Given the description of an element on the screen output the (x, y) to click on. 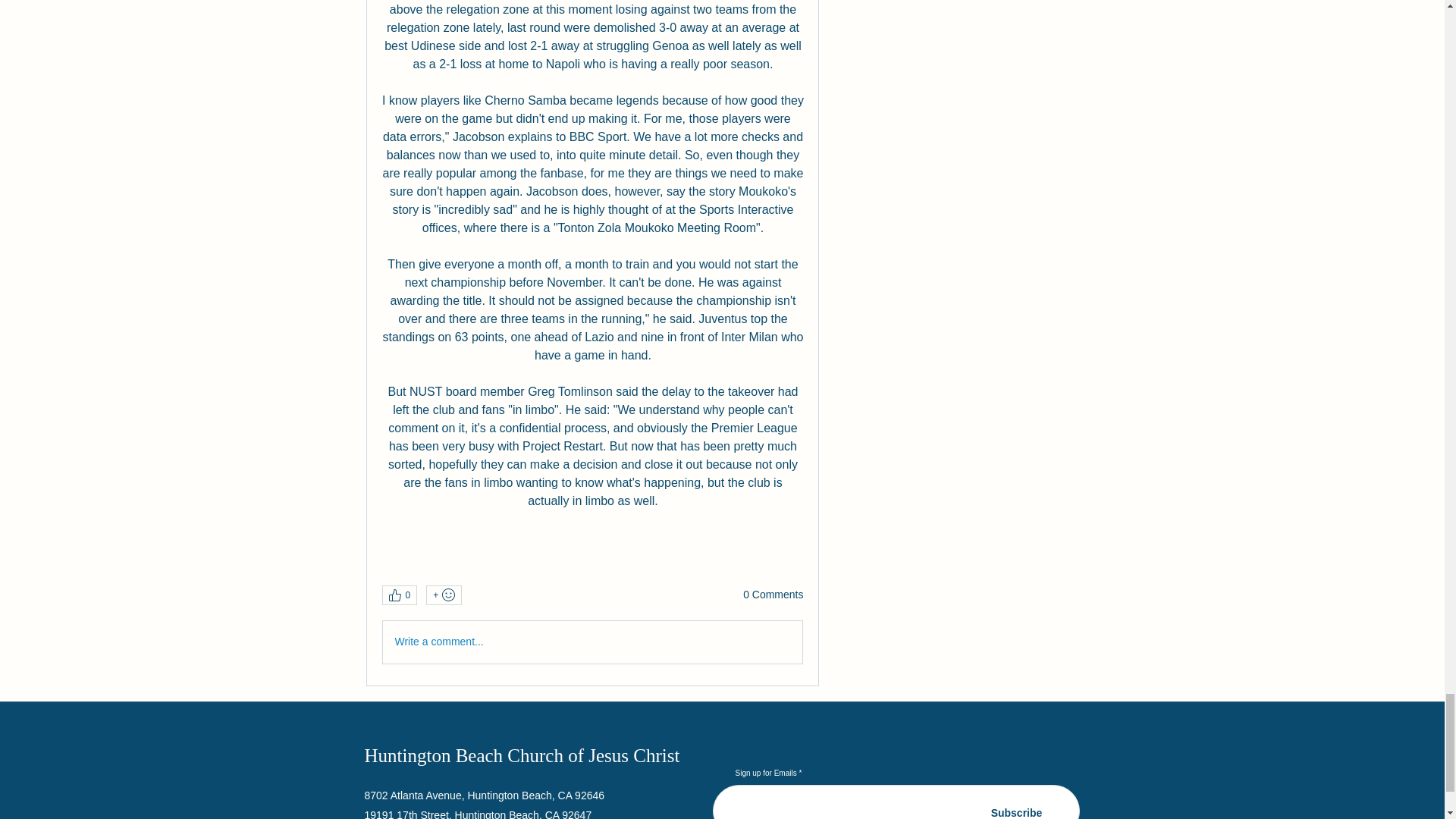
Write a comment... (591, 641)
0 Comments (772, 595)
